Given the description of an element on the screen output the (x, y) to click on. 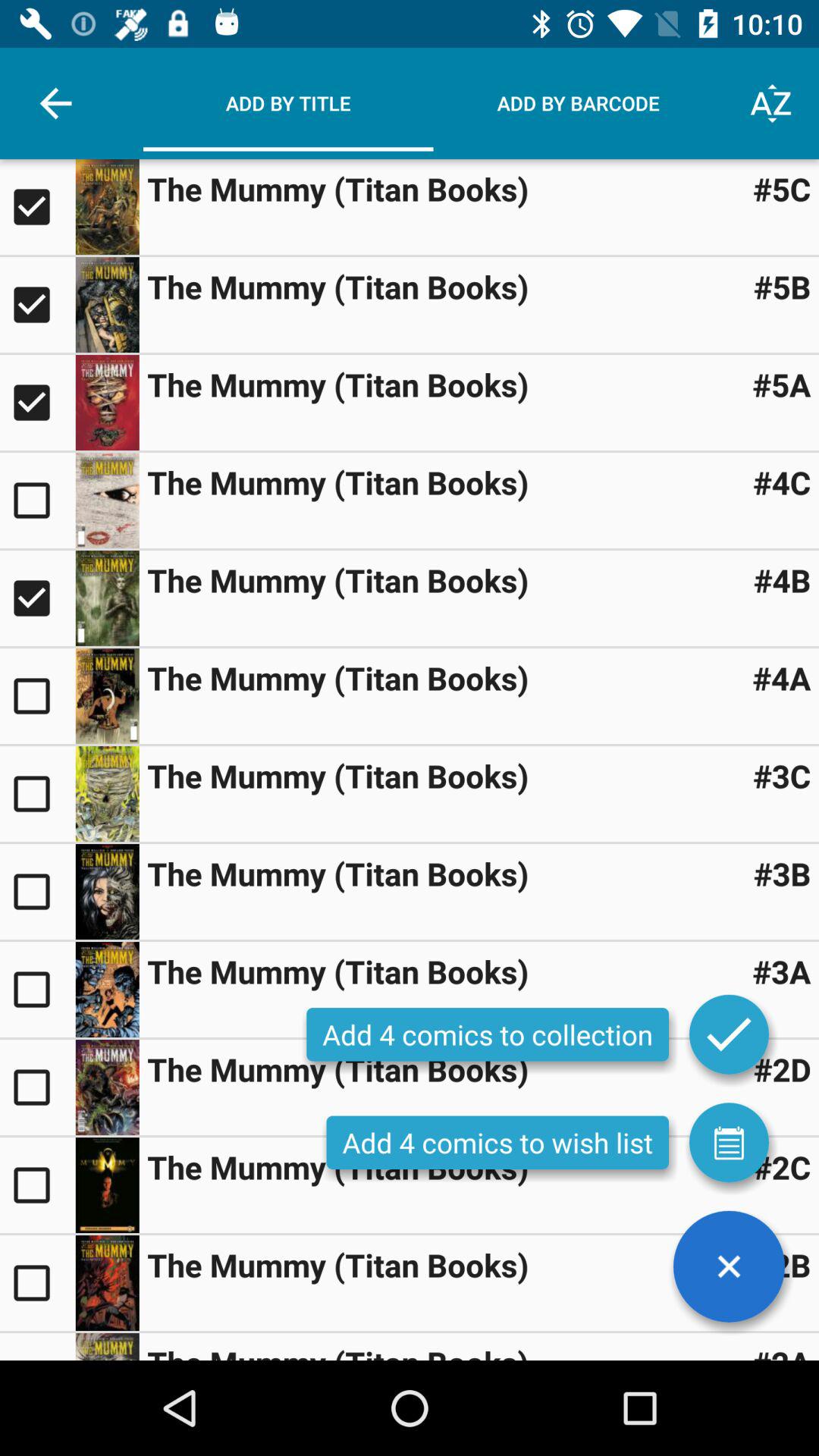
include a book in a collection or wishlist (37, 500)
